Given the description of an element on the screen output the (x, y) to click on. 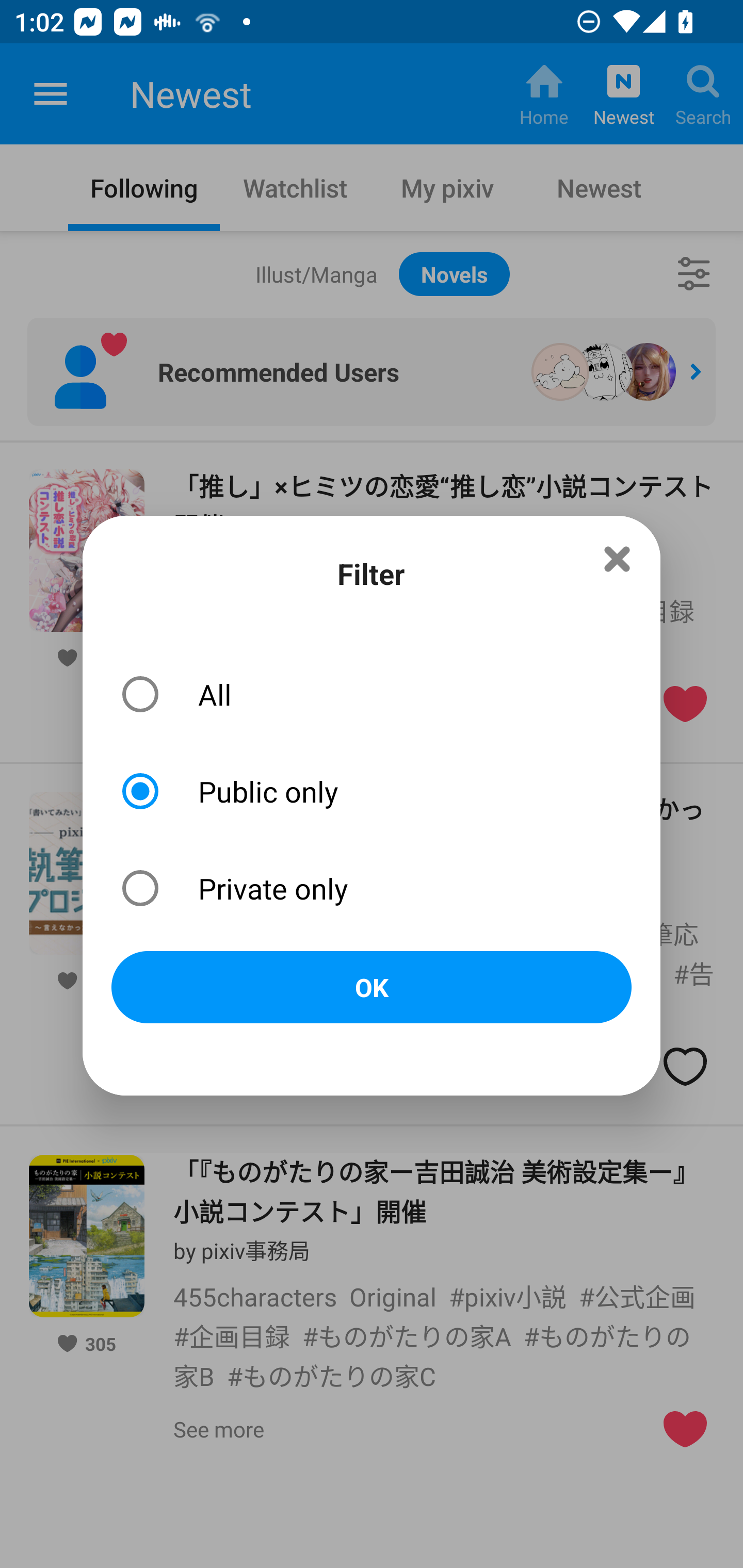
All (371, 694)
Public only (371, 791)
Private only (371, 888)
OK (371, 987)
